Given the description of an element on the screen output the (x, y) to click on. 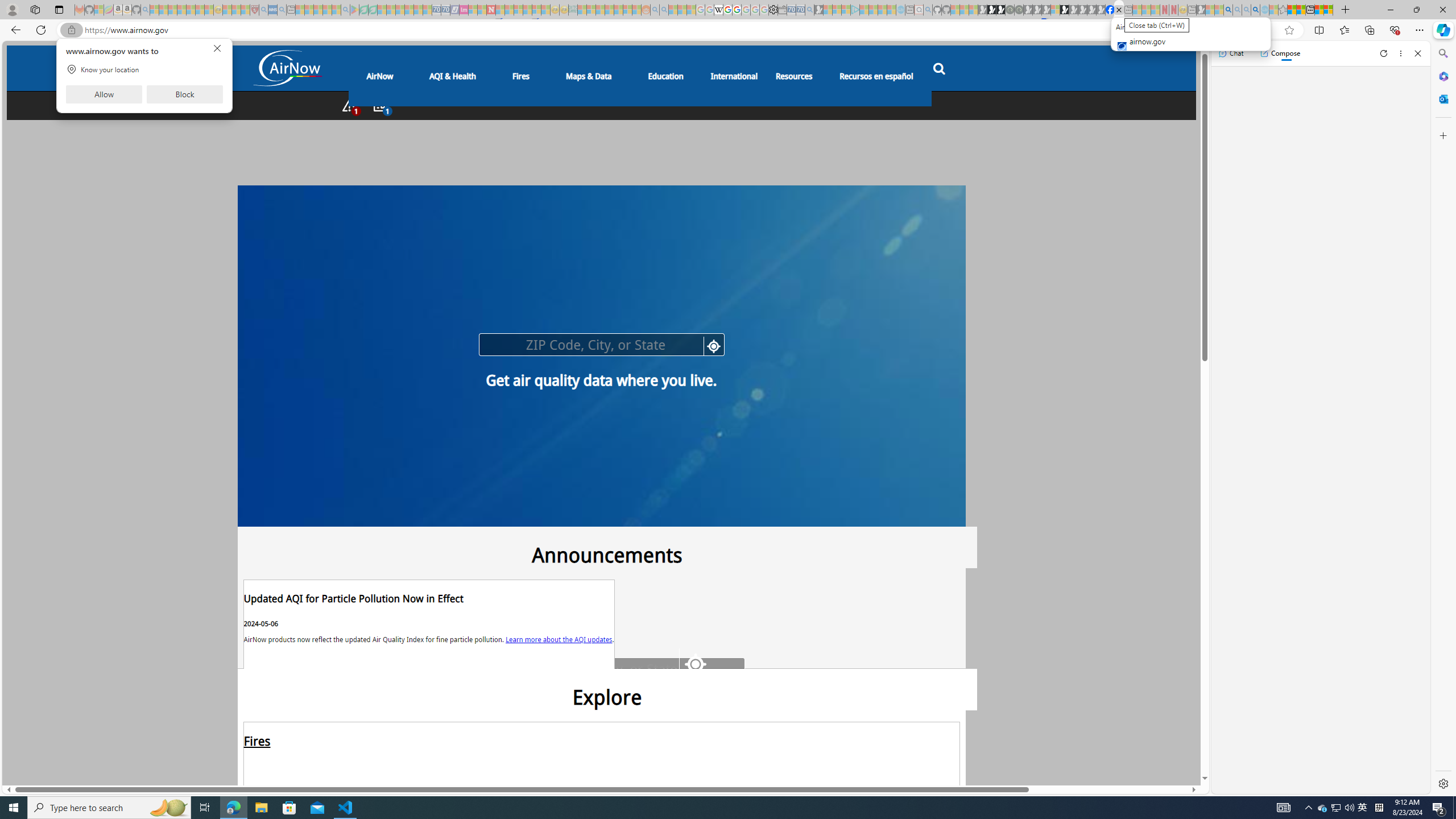
Play Zoo Boom in your browser | Games from Microsoft Start (991, 9)
AutomationID: nav-alerts-toggle (349, 105)
Google Chrome Internet Browser Download - Search Images (1255, 9)
Favorites - Sleeping (1283, 9)
AirNow.gov (1118, 9)
